Given the description of an element on the screen output the (x, y) to click on. 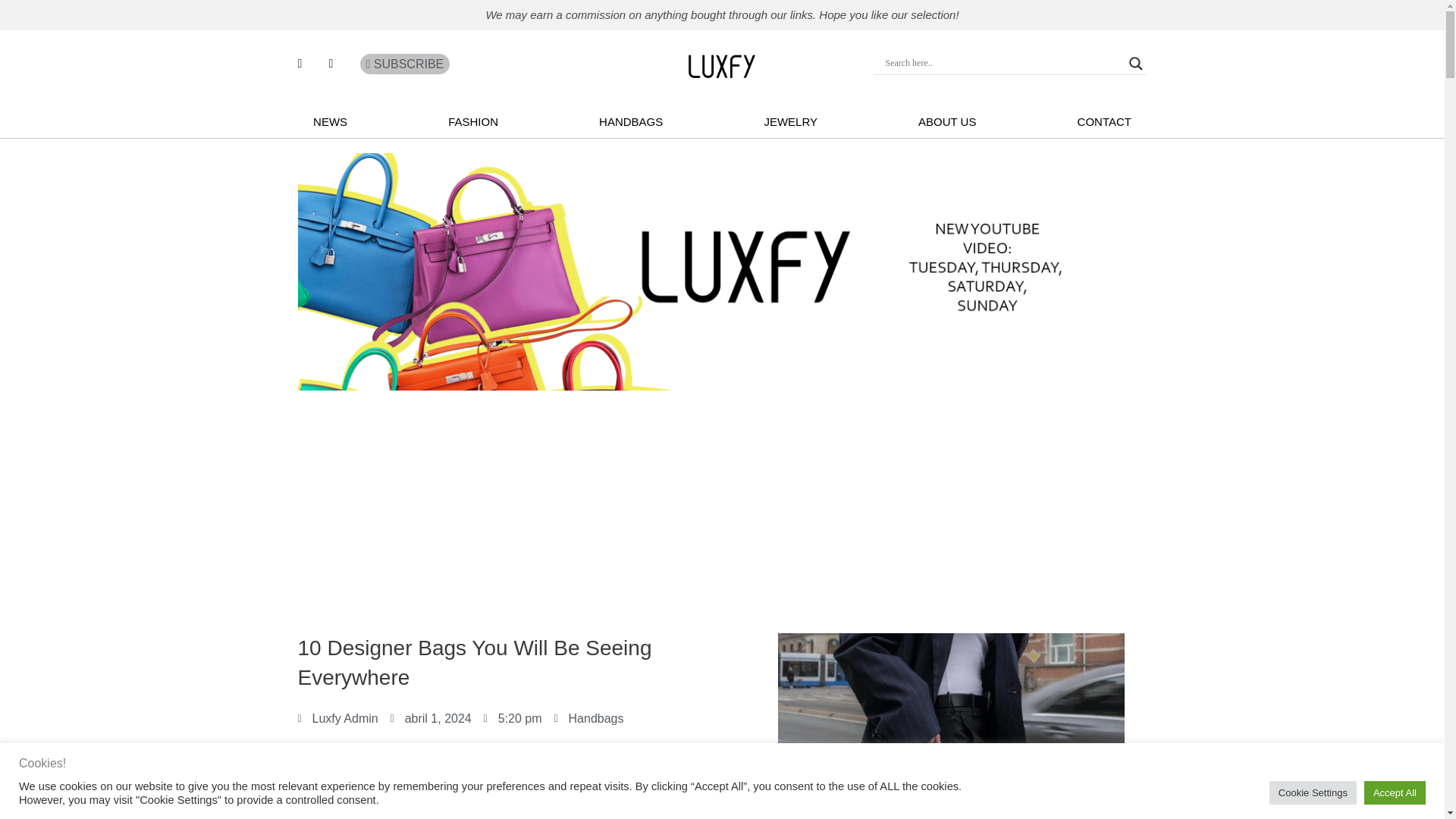
HANDBAGS (630, 121)
Handbags (596, 717)
Luxfy Admin (337, 718)
ABOUT US (946, 121)
JEWELRY (790, 121)
SUBSCRIBE (404, 64)
FASHION (472, 121)
CONTACT (1104, 121)
abril 1, 2024 (430, 718)
NEWS (329, 121)
